Given the description of an element on the screen output the (x, y) to click on. 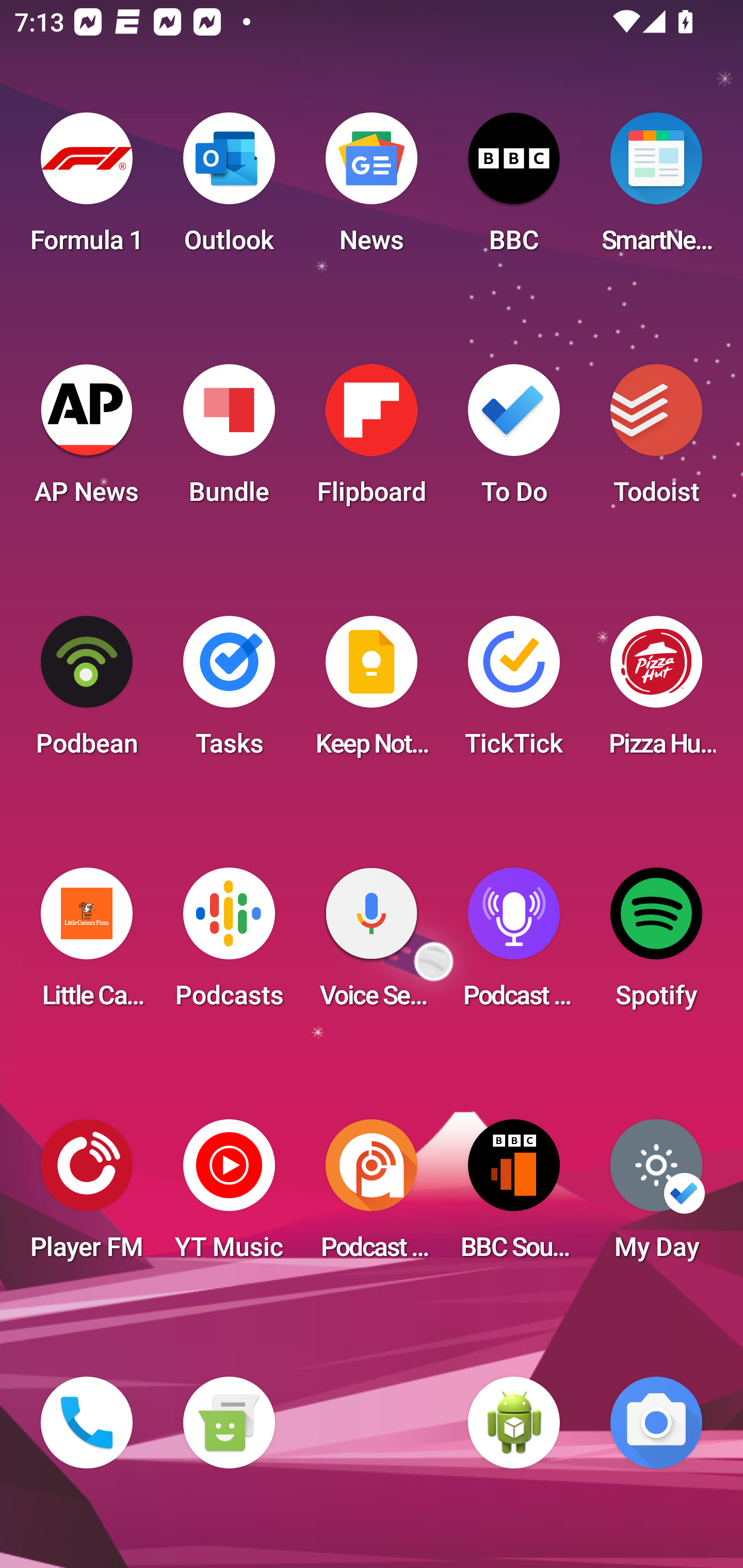
Formula 1 (86, 188)
Outlook (228, 188)
News (371, 188)
BBC (513, 188)
SmartNews (656, 188)
AP News (86, 440)
Bundle (228, 440)
Flipboard (371, 440)
To Do (513, 440)
Todoist (656, 440)
Podbean (86, 692)
Tasks (228, 692)
Keep Notes (371, 692)
TickTick (513, 692)
Pizza Hut HK & Macau (656, 692)
Little Caesars Pizza (86, 943)
Podcasts (228, 943)
Voice Search (371, 943)
Podcast Player (513, 943)
Spotify (656, 943)
Player FM (86, 1195)
YT Music (228, 1195)
Podcast Addict (371, 1195)
BBC Sounds (513, 1195)
My Day (656, 1195)
Phone (86, 1422)
Messaging (228, 1422)
WebView Browser Tester (513, 1422)
Camera (656, 1422)
